Given the description of an element on the screen output the (x, y) to click on. 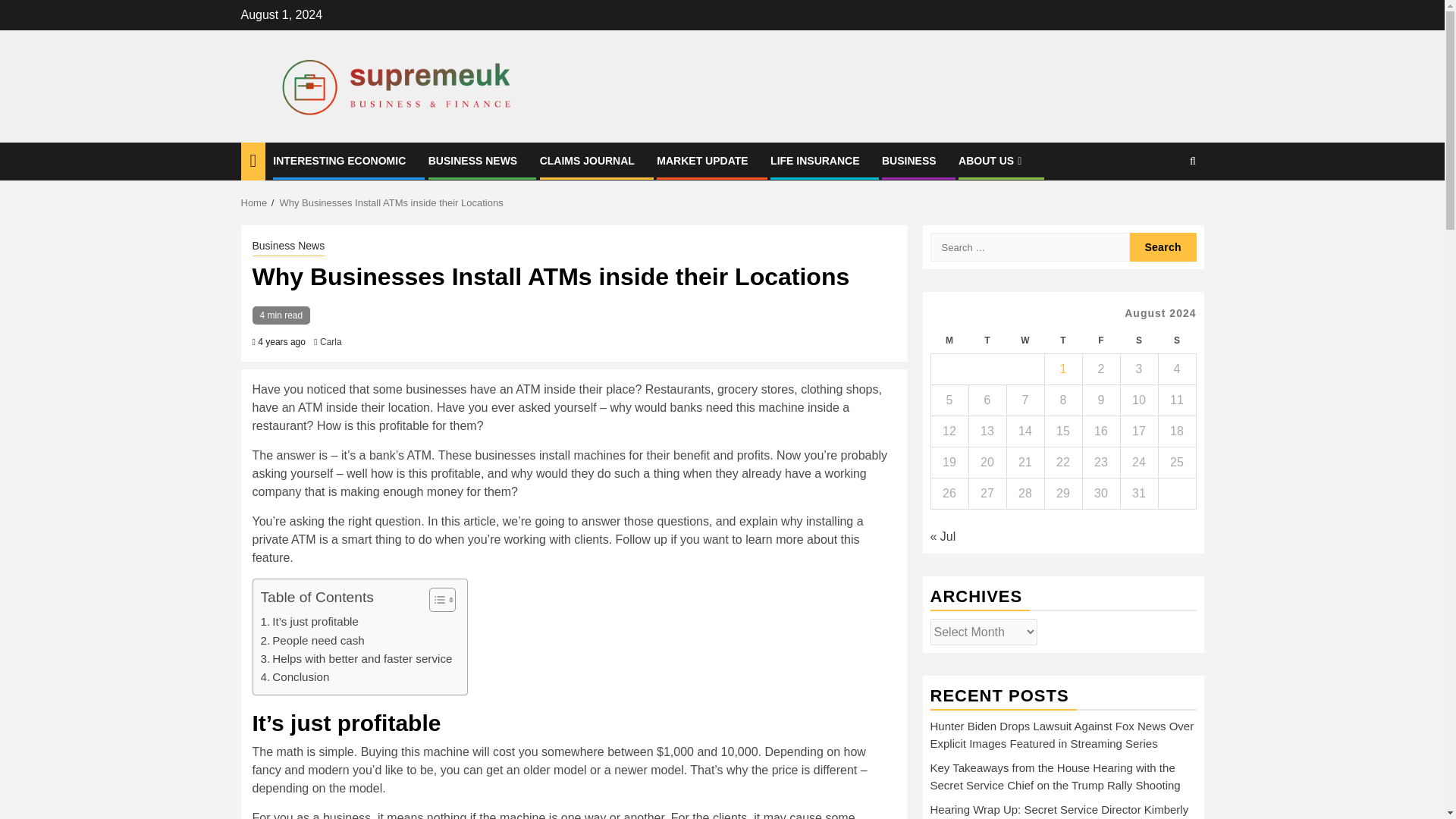
ABOUT US (991, 160)
MARKET UPDATE (702, 160)
Helps with better and faster service (356, 659)
Home (254, 202)
Sunday (1176, 340)
Conclusion (295, 677)
Conclusion (295, 677)
CLAIMS JOURNAL (587, 160)
Business News (287, 247)
Why Businesses Install ATMs inside their Locations (390, 202)
